Given the description of an element on the screen output the (x, y) to click on. 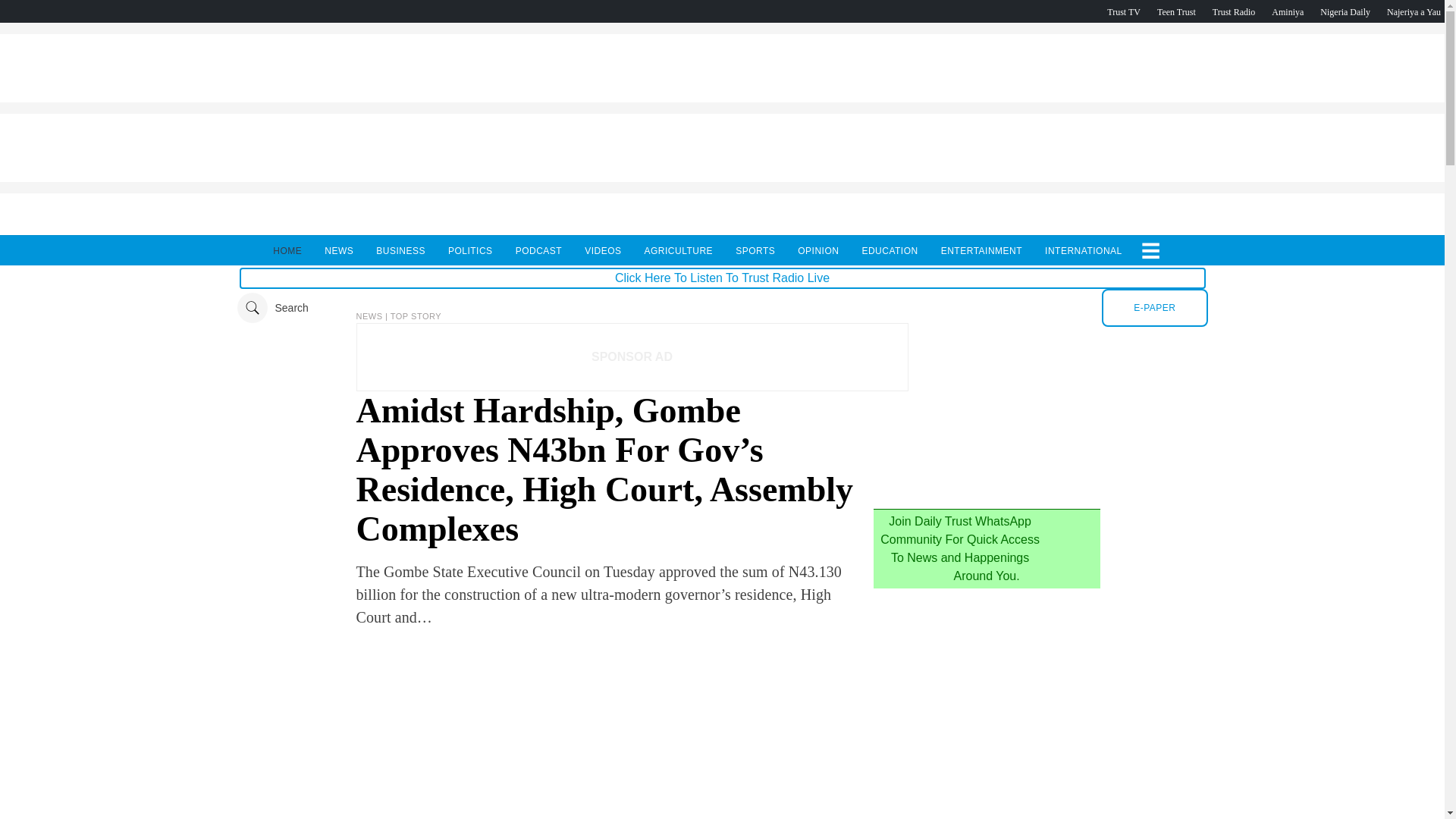
Aminiya (1287, 11)
Nigeria Daily (1345, 11)
Saurari Shirye Shiryenmu (1414, 11)
Aminiya Online (1287, 11)
Mitsubishi (986, 491)
Trust Radio (1233, 11)
Dailytrust (722, 307)
OPAY: Contact Us (721, 177)
Trust TV (1123, 11)
Search (271, 307)
Trust Radio Live (1233, 11)
Top Story (415, 316)
Search (271, 307)
News (370, 316)
E-Paper Subscription (1154, 307)
